Given the description of an element on the screen output the (x, y) to click on. 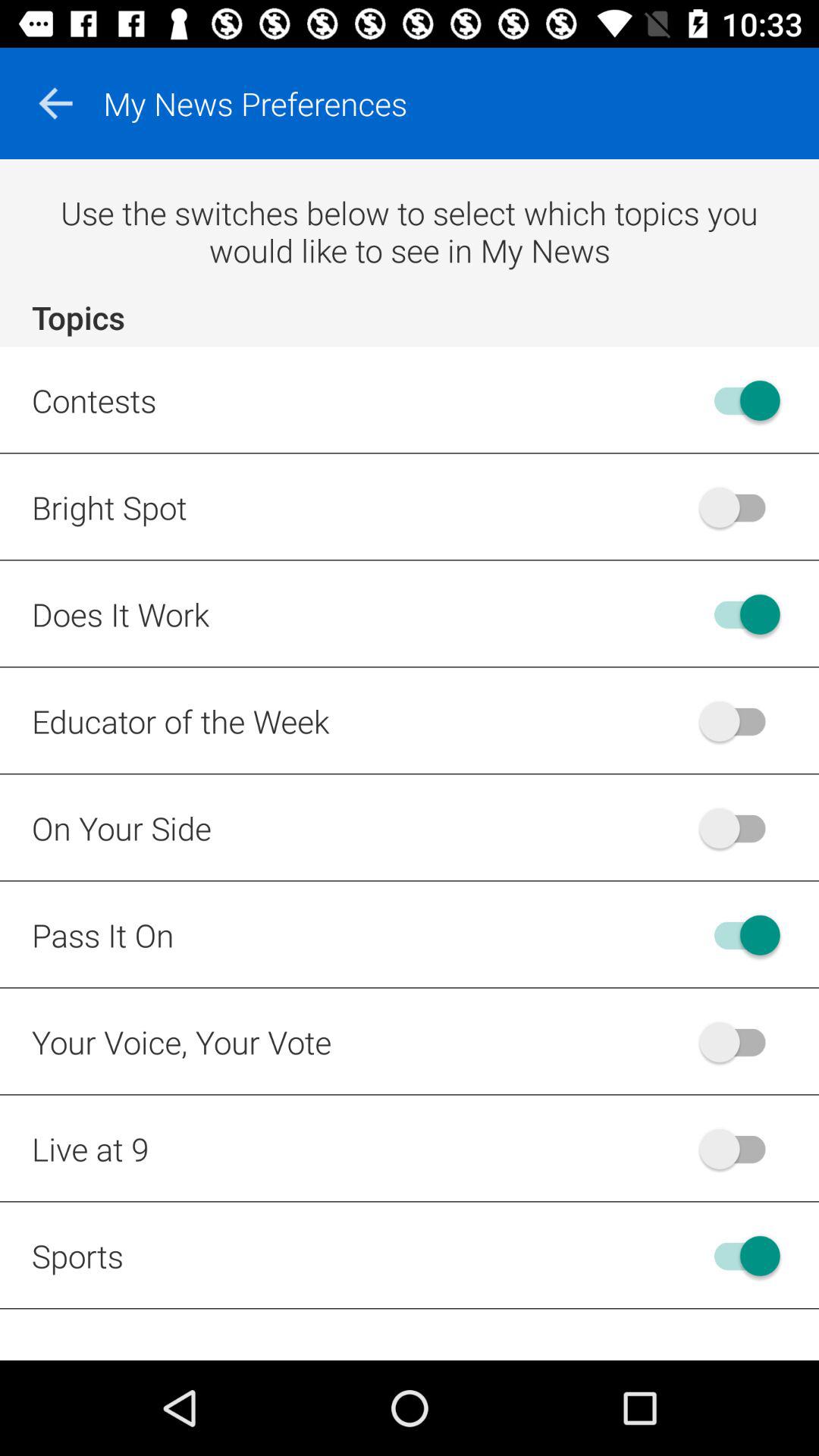
toggle the option (739, 613)
